Given the description of an element on the screen output the (x, y) to click on. 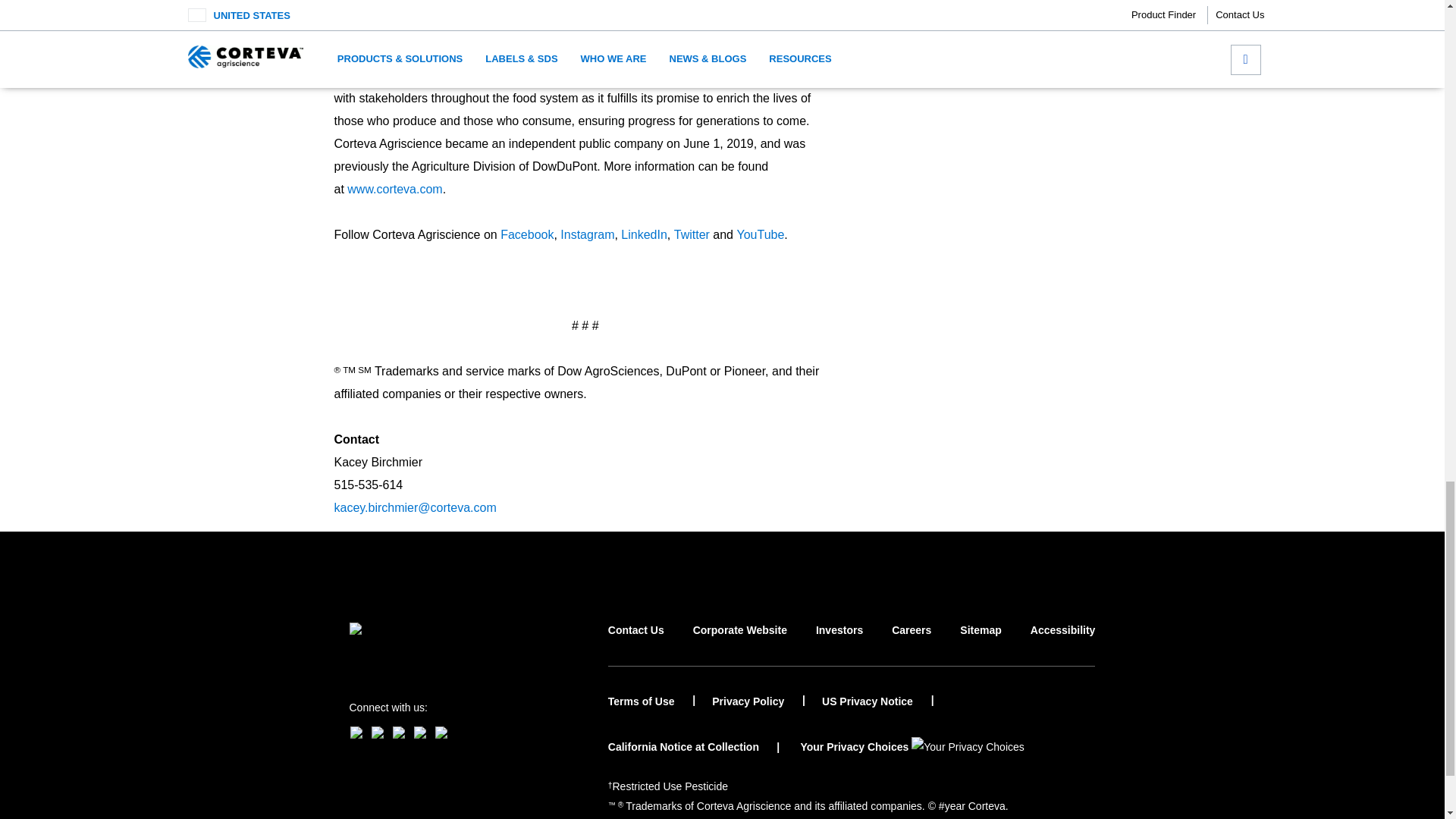
Investors (839, 643)
Contact Us (635, 643)
Careers (911, 643)
Sitemap (980, 643)
US Privacy Notice (878, 701)
Terms of Use (651, 701)
Privacy Policy (758, 701)
Accessibility (1063, 643)
Corporate Website (740, 643)
Legals (669, 786)
